Given the description of an element on the screen output the (x, y) to click on. 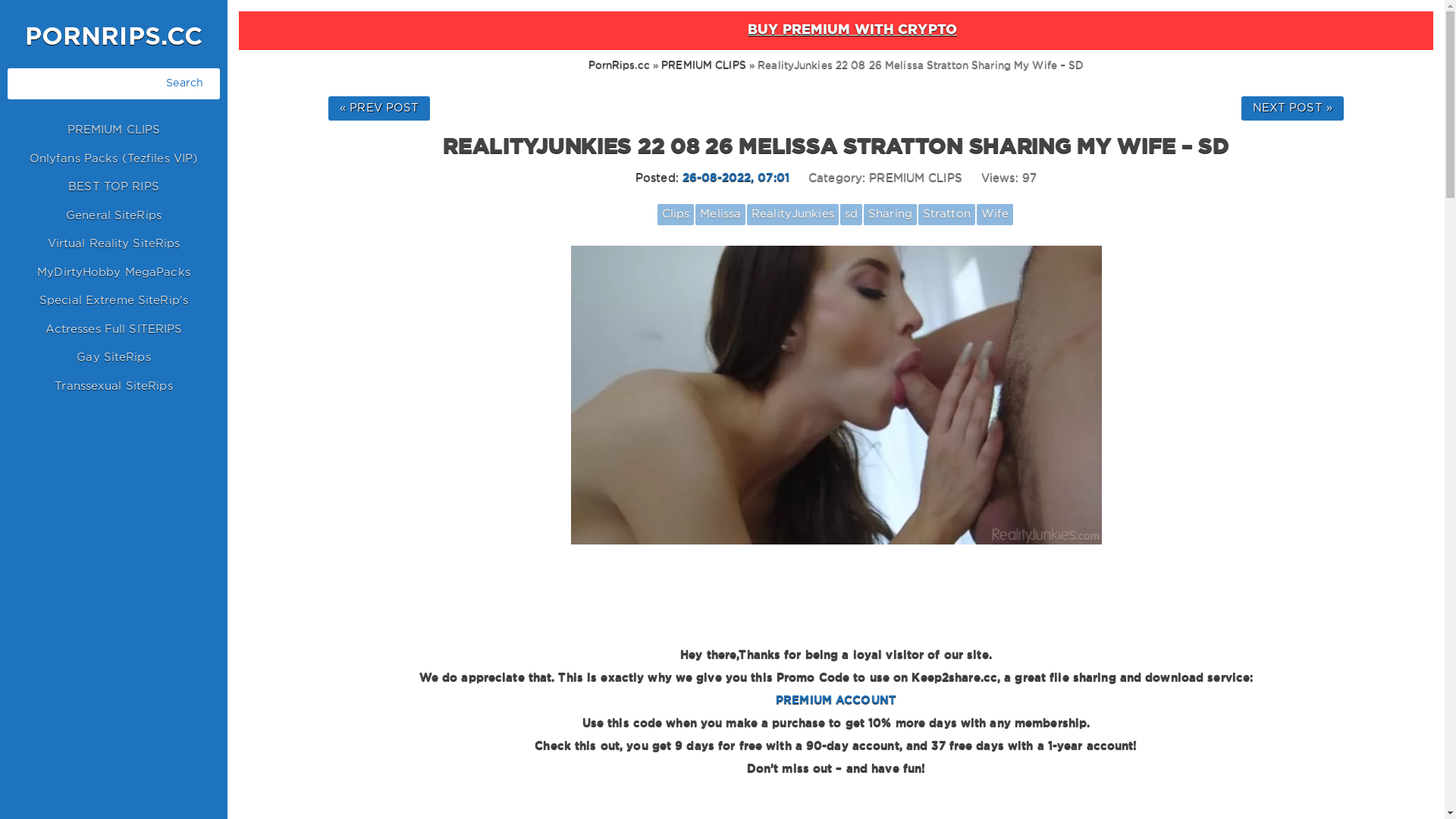
PREMIUM CLIPS Element type: text (703, 64)
Transsexual SiteRips Element type: text (113, 386)
PornRips.cc Element type: text (618, 64)
Clips Element type: text (675, 214)
PREMIUM ACCOUNT Element type: text (1013, 711)
MyDirtyHobby MegaPacks Element type: text (113, 272)
BUY PREMIUM WITH CRYPTO Element type: text (836, 30)
Wife Element type: text (994, 214)
Virtual Reality SiteRips Element type: text (113, 244)
Sharing Element type: text (889, 214)
RealityJunkies Element type: text (792, 214)
26-08-2022, 07:01 Element type: text (735, 177)
Melissa Element type: text (720, 214)
PREMIUM CLIPS Element type: text (915, 177)
BEST TOP RIPS Element type: text (113, 187)
Stratton Element type: text (946, 214)
General SiteRips Element type: text (113, 215)
Onlyfans Packs (Tezfiles VIP) Element type: text (113, 159)
Special Extreme SiteRip's Element type: text (113, 300)
Actresses Full SITERIPS Element type: text (113, 329)
PORNRIPS.CC Element type: text (113, 37)
sd Element type: text (851, 214)
Gay SiteRips Element type: text (113, 357)
PREMIUM CLIPS Element type: text (113, 130)
Search Element type: text (184, 83)
